Given the description of an element on the screen output the (x, y) to click on. 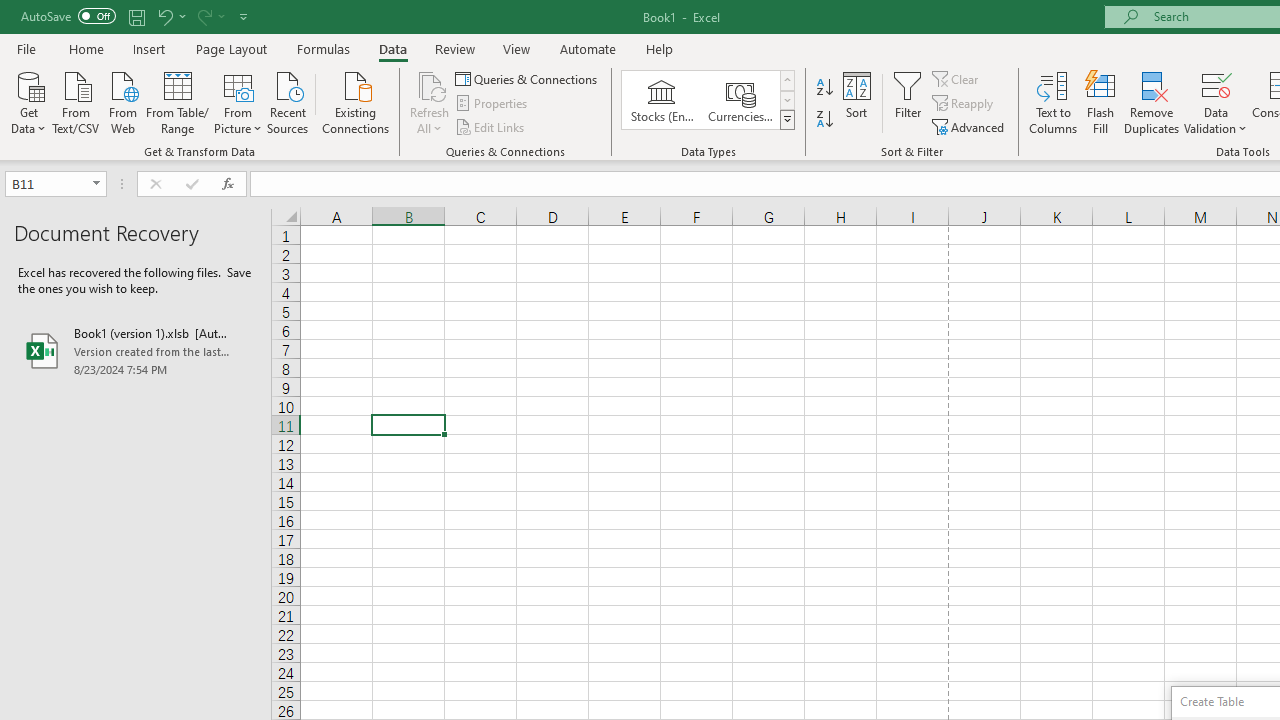
Existing Connections (355, 101)
Insert (149, 48)
Home (86, 48)
Formulas (323, 48)
More Options (1215, 121)
Filter (908, 102)
Currencies (English) (740, 100)
Queries & Connections (527, 78)
Review (454, 48)
Flash Fill (1101, 102)
Sort... (856, 102)
Customize Quick Access Toolbar (244, 15)
Book1 (version 1).xlsb  [AutoRecovered] (136, 350)
Save (136, 15)
Redo (209, 15)
